Given the description of an element on the screen output the (x, y) to click on. 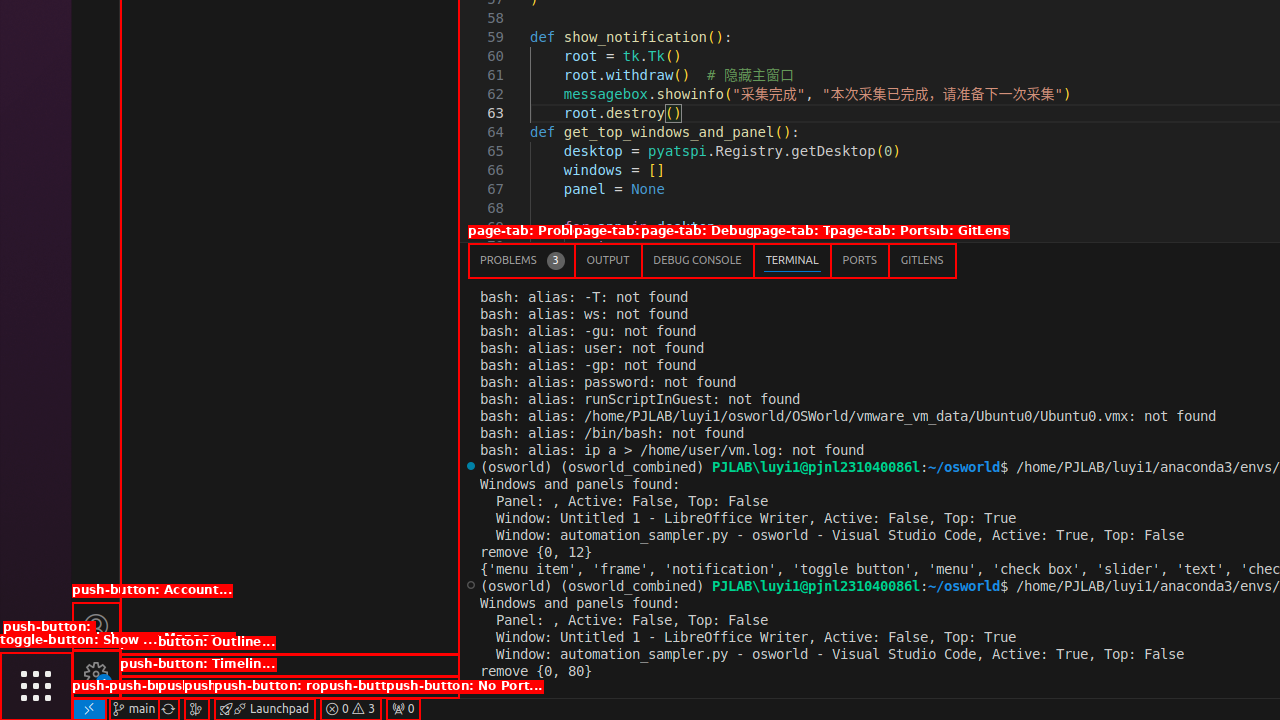
GitLens Element type: page-tab (922, 260)
rocket gitlens-unplug Launchpad, GitLens Launchpad ᴘʀᴇᴠɪᴇᴡ    &mdash;    [$(question)](command:gitlens.launchpad.indicator.action?%22info%22 "What is this?") [$(gear)](command:workbench.action.openSettings?%22gitlens.launchpad%22 "Settings")  |  [$(circle-slash) Hide](command:gitlens.launchpad.indicator.action?%22hide%22 "Hide") --- [Launchpad](command:gitlens.launchpad.indicator.action?%info%22 "Learn about Launchpad") organizes your pull requests into actionable groups to help you focus and keep your team unblocked. It's always accessible using the `GitLens: Open Launchpad` command from the Command Palette. --- [Connect an integration](command:gitlens.showLaunchpad?%7B%22source%22%3A%22launchpad-indicator%22%7D "Connect an integration") to get started. Element type: push-button (264, 709)
OSWorld (Git) - main, Checkout Branch/Tag... Element type: push-button (134, 709)
Debug Console (Ctrl+Shift+Y) Element type: page-tab (697, 260)
Accounts Element type: push-button (96, 626)
